Given the description of an element on the screen output the (x, y) to click on. 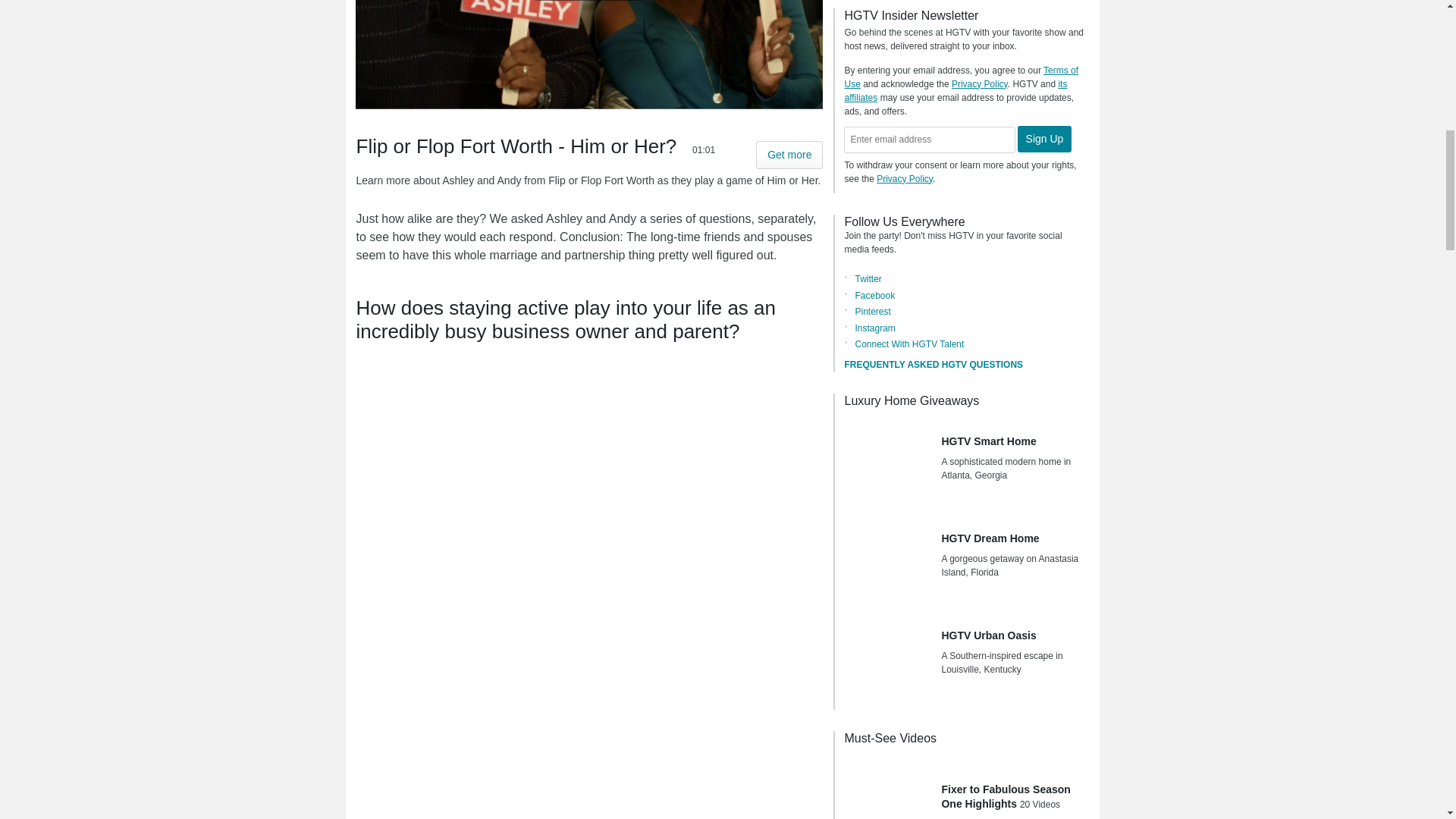
Fixer to Fabulous Season One Highlights (887, 787)
HGTV Dream Home (887, 558)
HGTV Urban Oasis (887, 655)
HGTV Smart Home (887, 461)
